Given the description of an element on the screen output the (x, y) to click on. 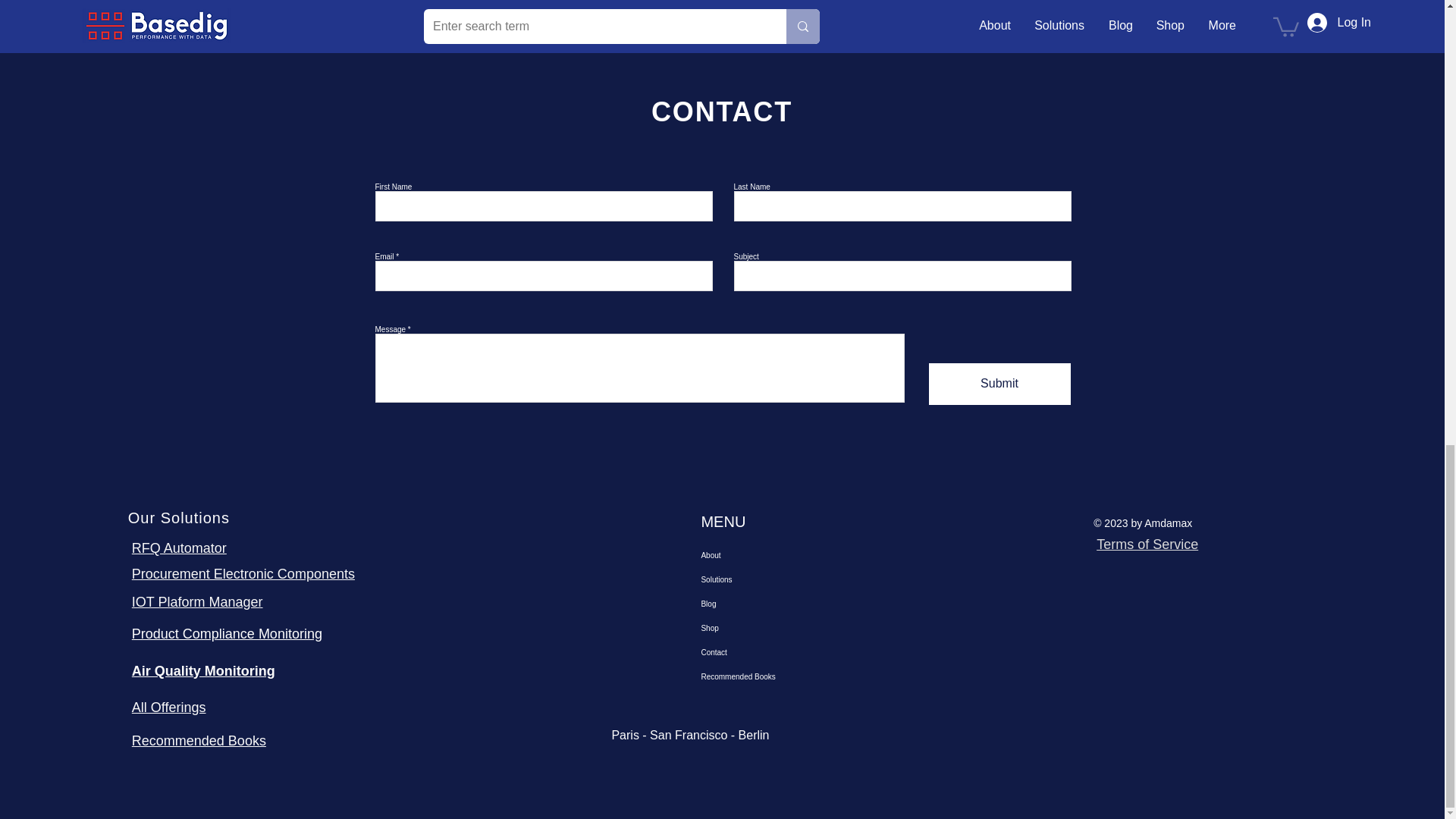
Solutions (771, 580)
Recommended Books (199, 740)
Product Compliance Monitoring (226, 633)
Submit (999, 383)
About (771, 555)
IOT Plaform Manager (197, 601)
Air Quality Monitoring (203, 670)
Our Solutions (179, 517)
RFQ Automator (179, 548)
Procurement Electronic Components (243, 573)
